Given the description of an element on the screen output the (x, y) to click on. 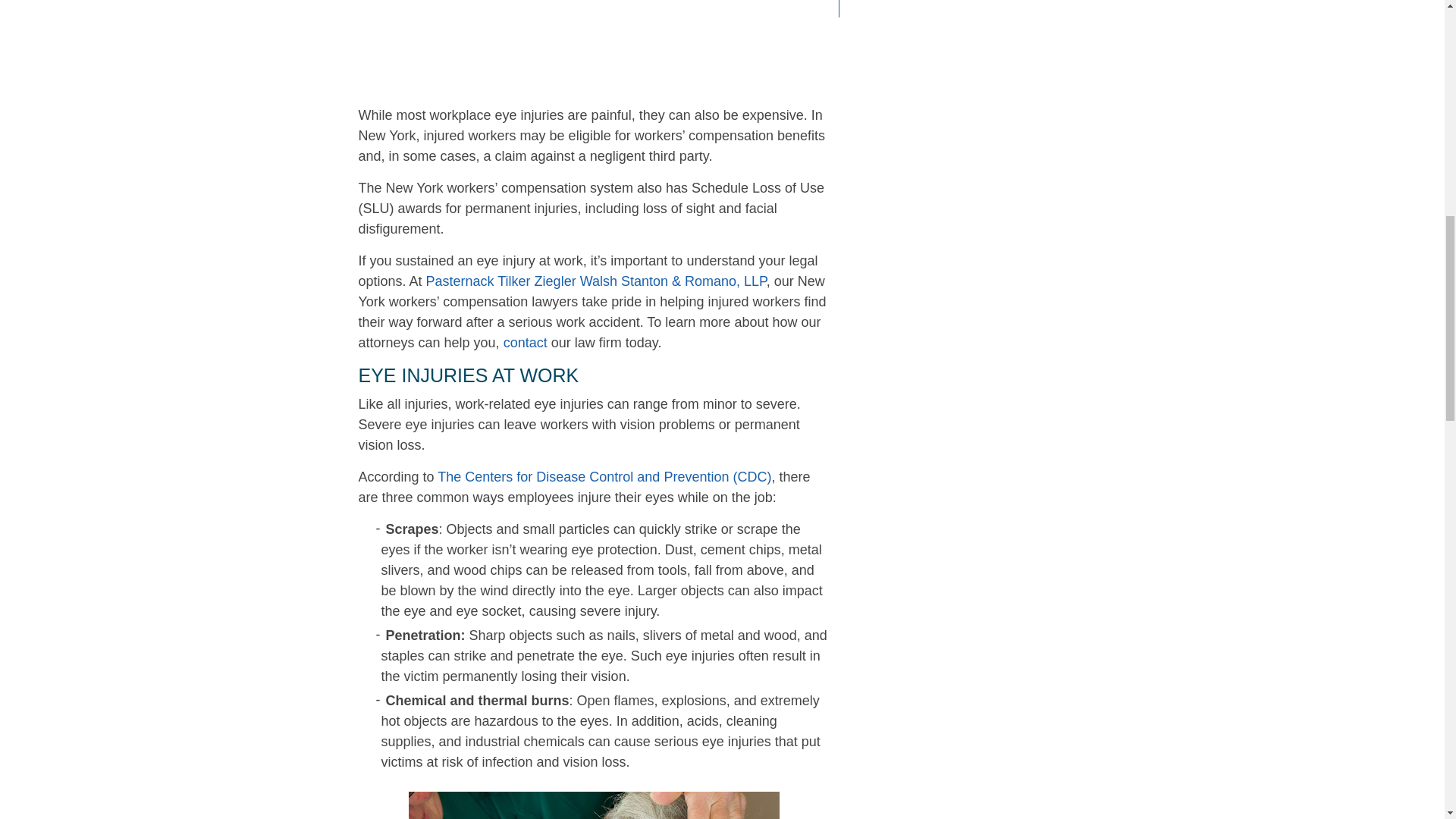
Contact Us (525, 342)
